Given the description of an element on the screen output the (x, y) to click on. 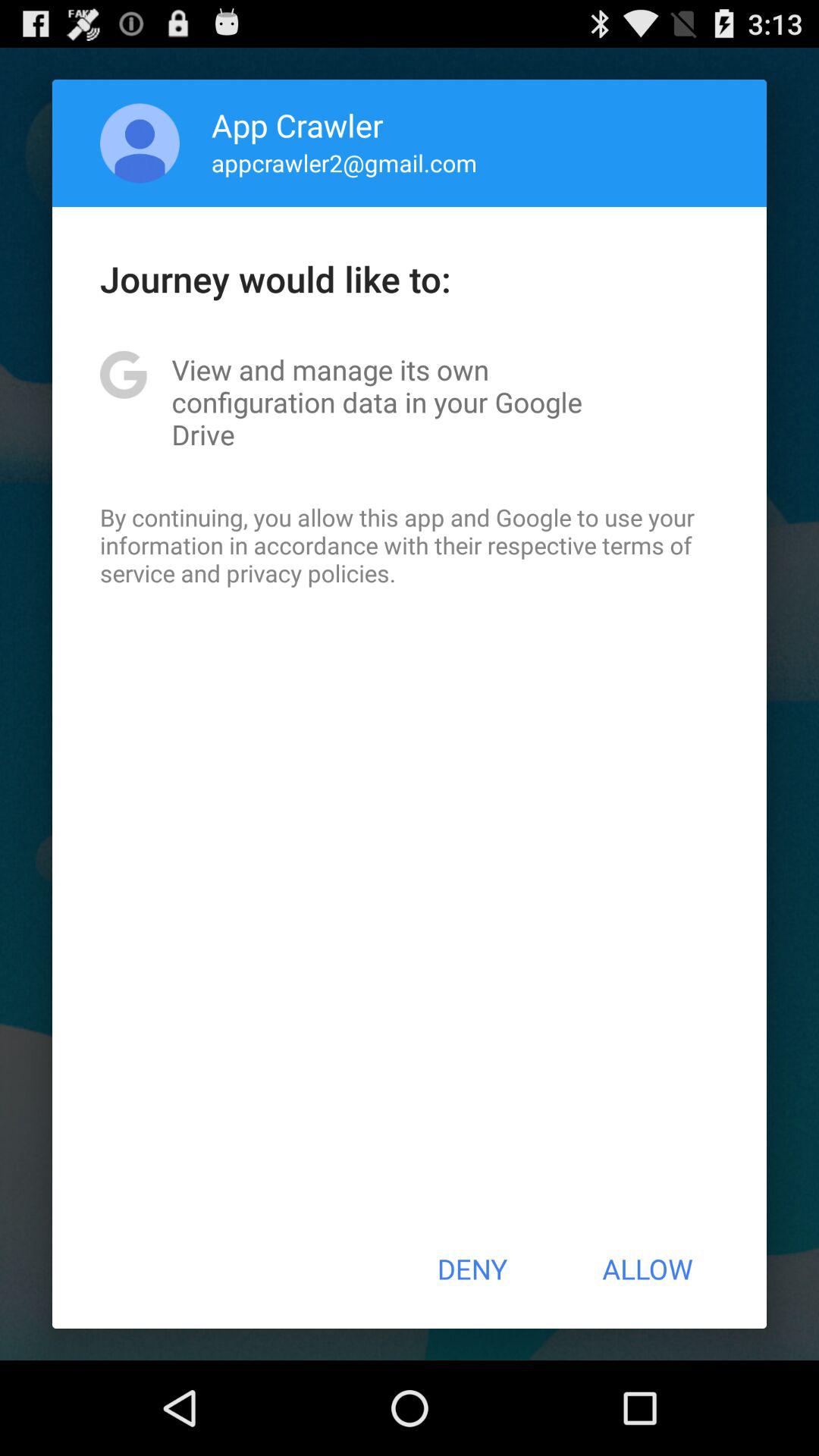
tap the app below by continuing you item (471, 1268)
